Given the description of an element on the screen output the (x, y) to click on. 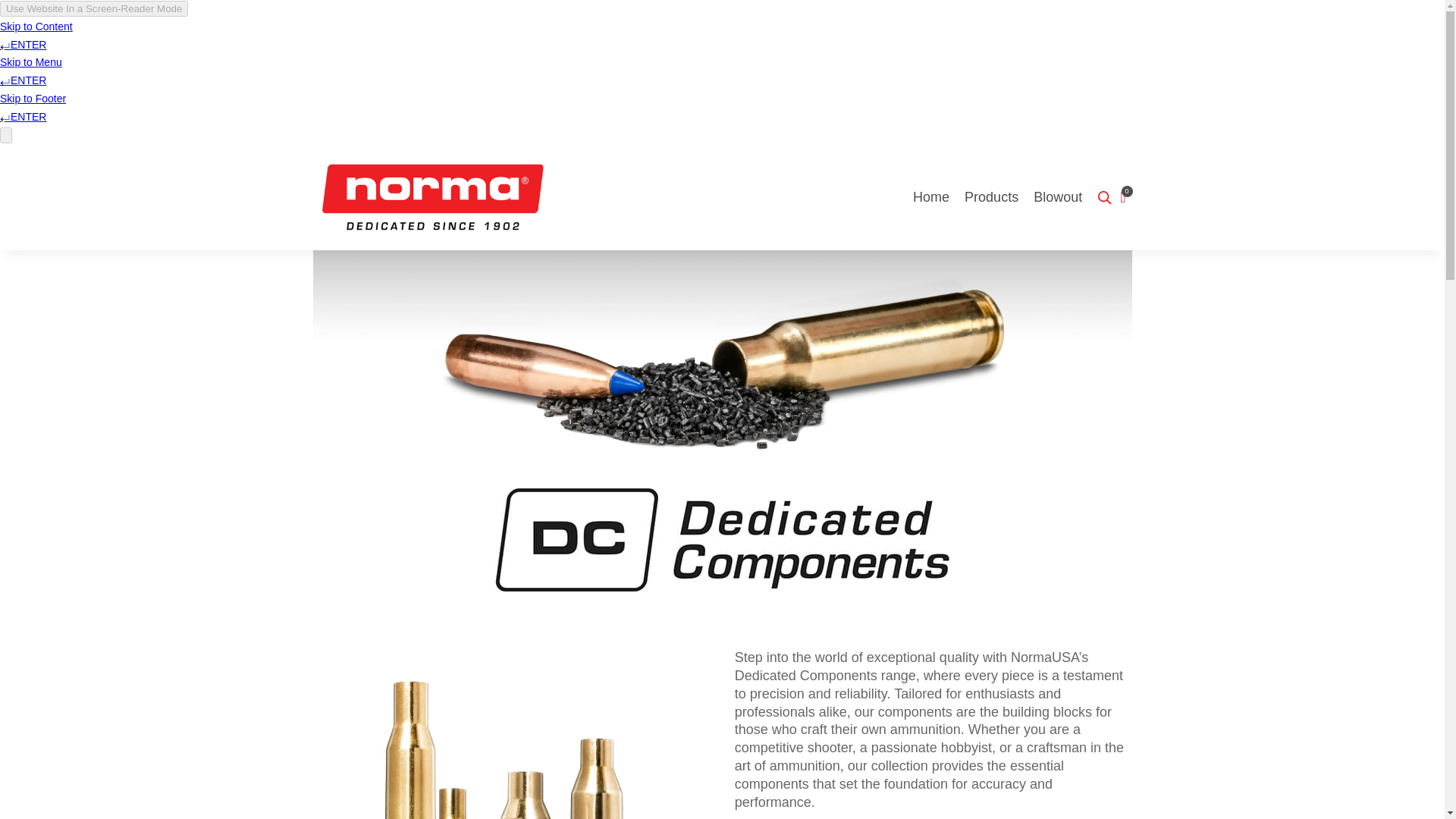
Products (990, 197)
Home (930, 197)
